Given the description of an element on the screen output the (x, y) to click on. 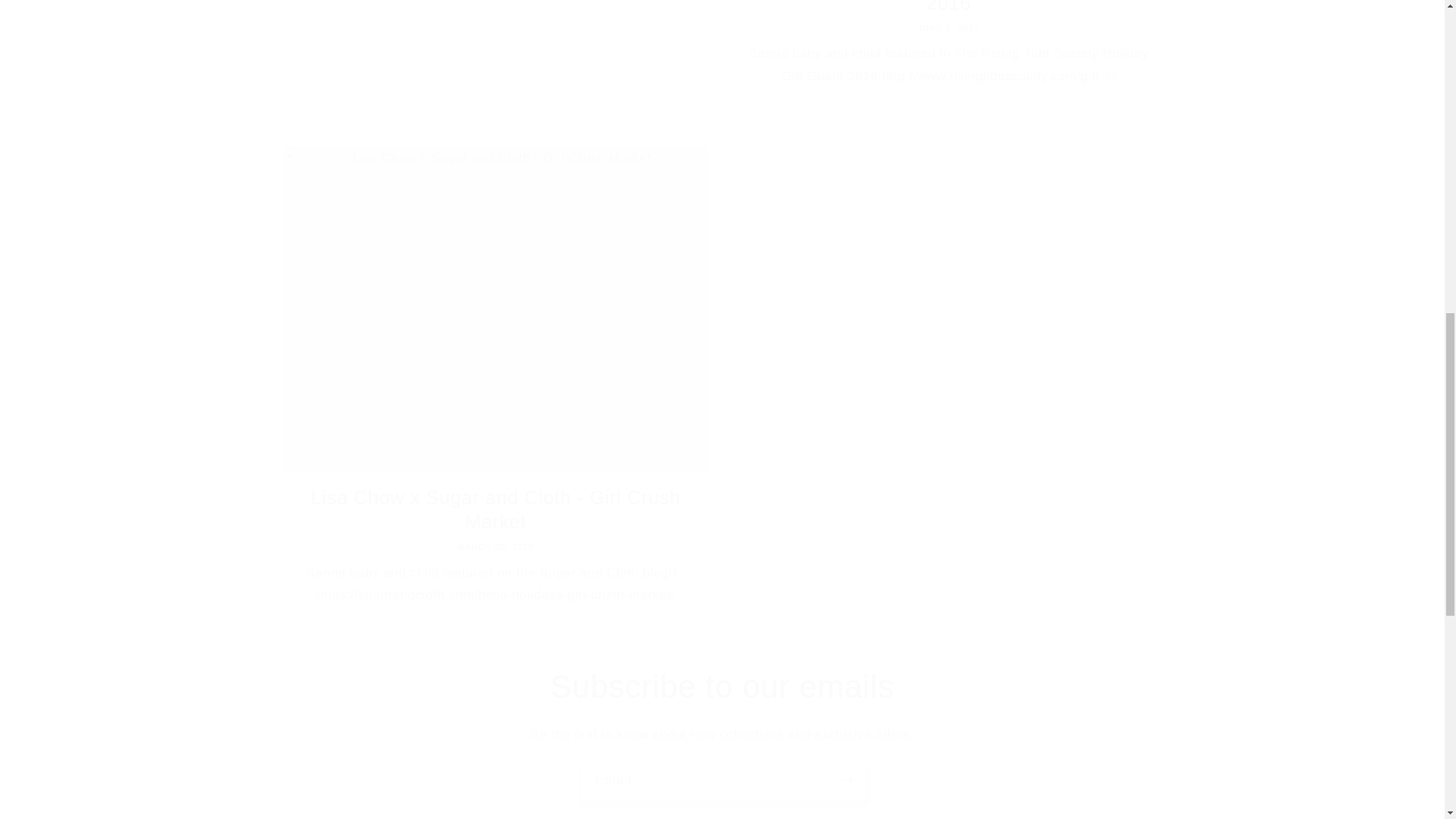
Subscribe to our emails (722, 687)
Email (722, 780)
